Given the description of an element on the screen output the (x, y) to click on. 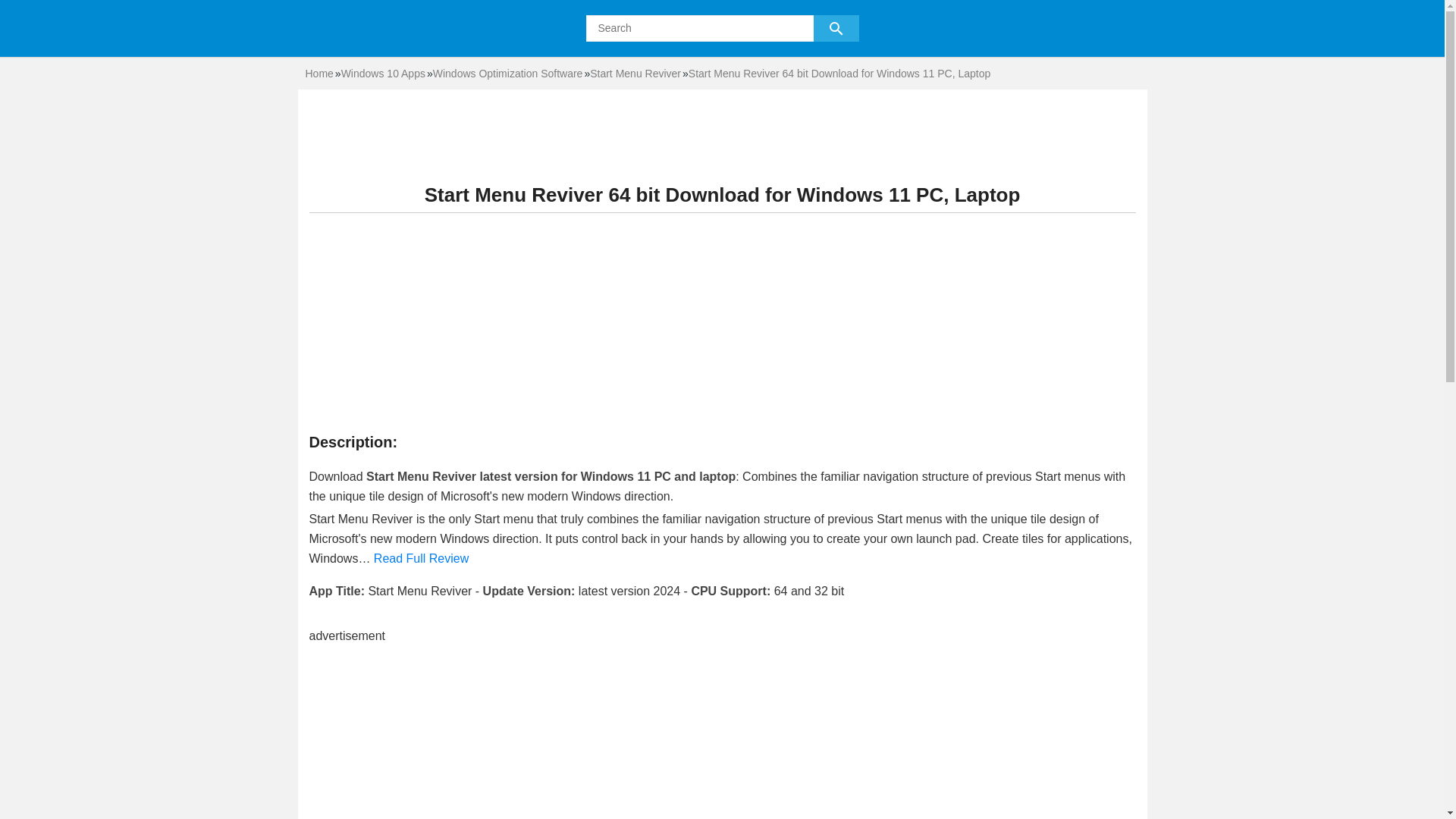
Windows Optimization Software (507, 73)
Start Menu Reviver (635, 73)
Windows 10 Apps (382, 73)
Start Menu Reviver Free Download for Windows 11 (839, 73)
Windows 10 Apps (382, 73)
Windows Optimization Software (507, 73)
Read Full Review (421, 558)
Start Menu Reviver 64 bit Download for Windows 11 PC, Laptop (839, 73)
FilesWin HomePage (318, 73)
Start Menu Reviver (635, 73)
FilesWin (358, 42)
Home (318, 73)
